Given the description of an element on the screen output the (x, y) to click on. 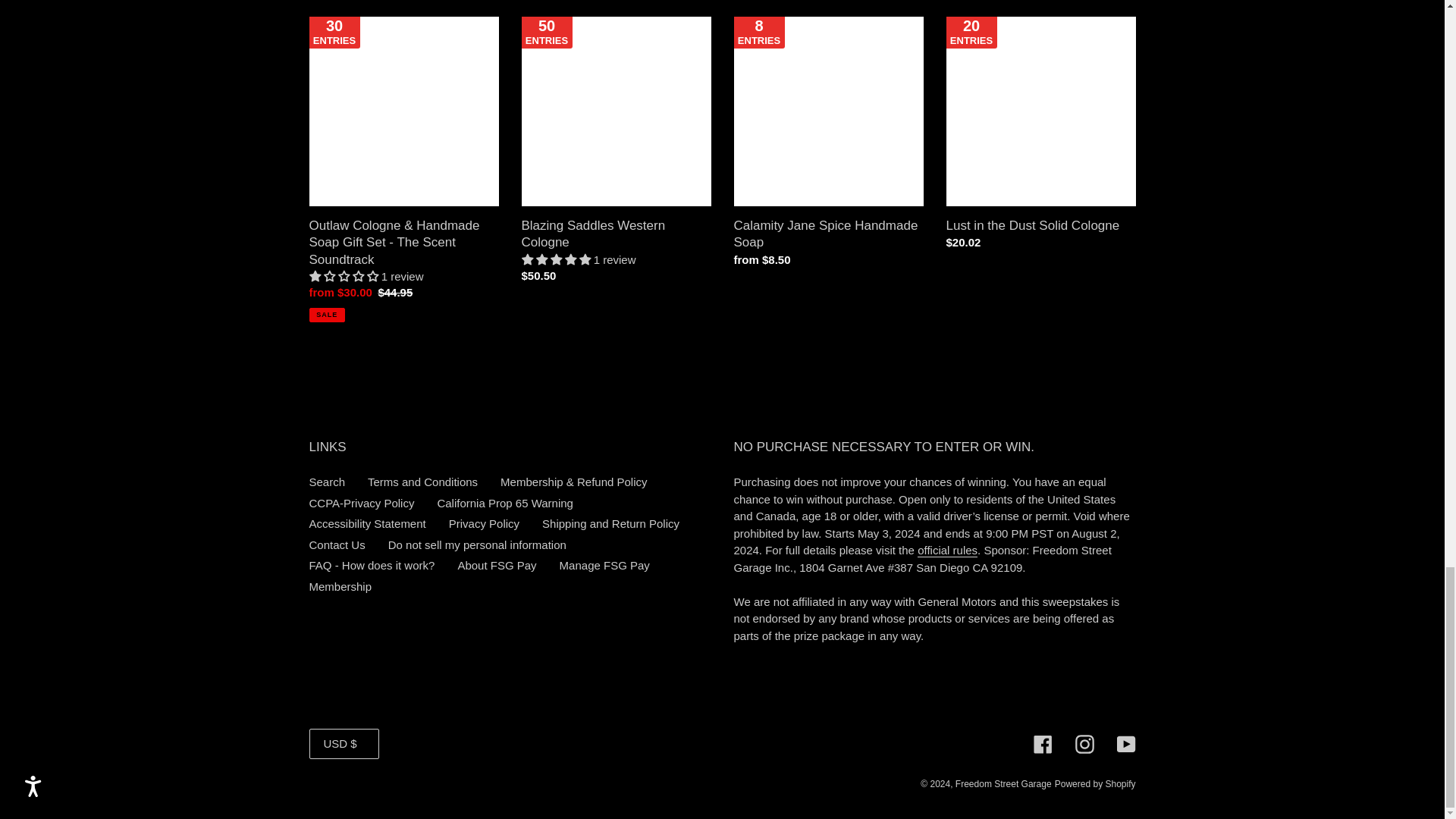
Official Rules (946, 550)
